Given the description of an element on the screen output the (x, y) to click on. 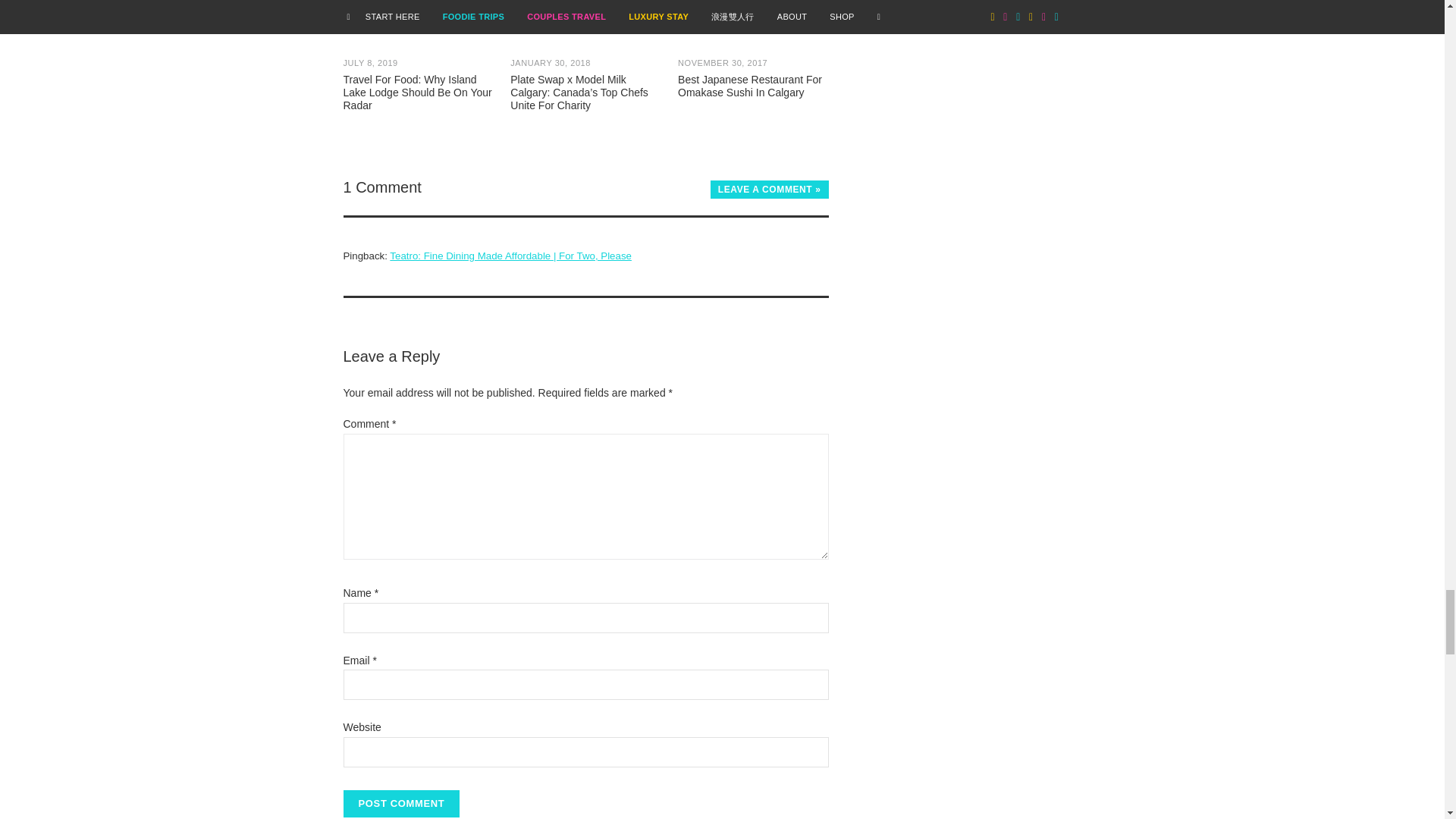
Post Comment (401, 803)
Best Japanese Restaurant For Omakase Sushi In Calgary (753, 49)
